Given the description of an element on the screen output the (x, y) to click on. 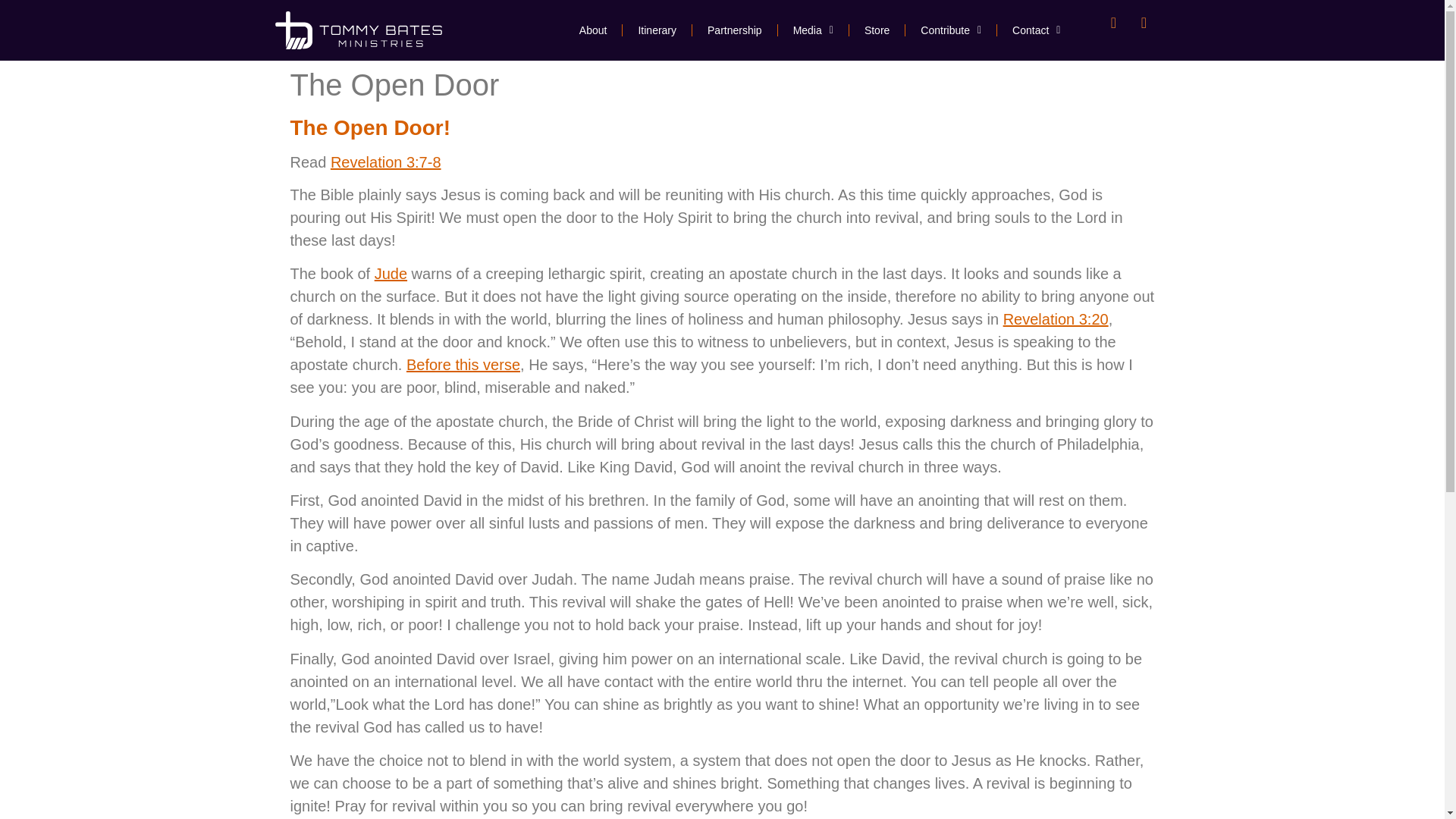
Itinerary (657, 30)
Store (876, 30)
Partnership (735, 30)
Contact (1036, 30)
About (593, 30)
Media (812, 30)
Contribute (950, 30)
